Given the description of an element on the screen output the (x, y) to click on. 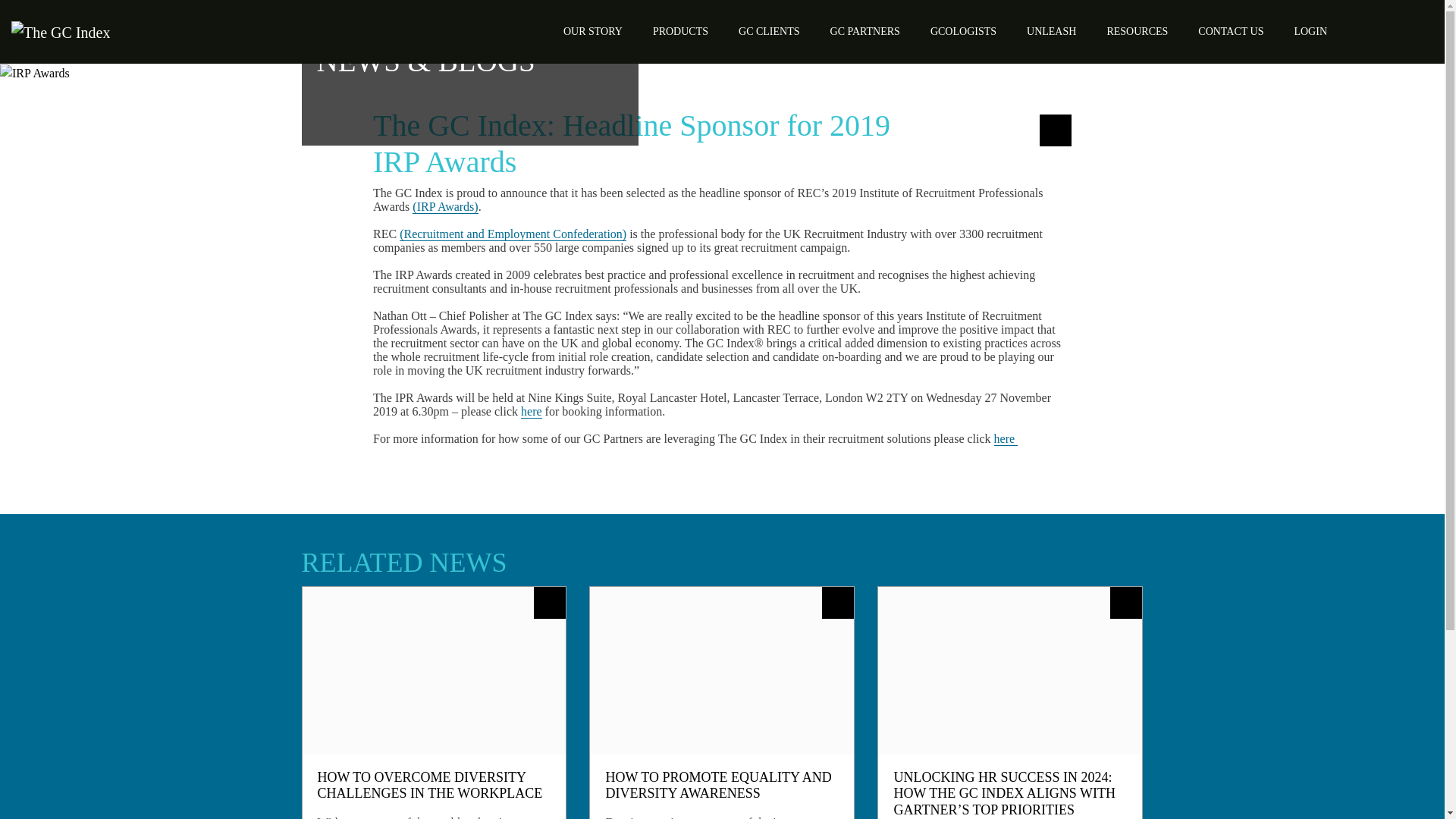
GCOLOGISTS (963, 31)
GC CLIENTS (769, 31)
GC Platform (1310, 31)
OUR STORY (592, 31)
GC PARTNERS (865, 31)
UNLEASH (1050, 31)
PRODUCTS (680, 31)
